Given the description of an element on the screen output the (x, y) to click on. 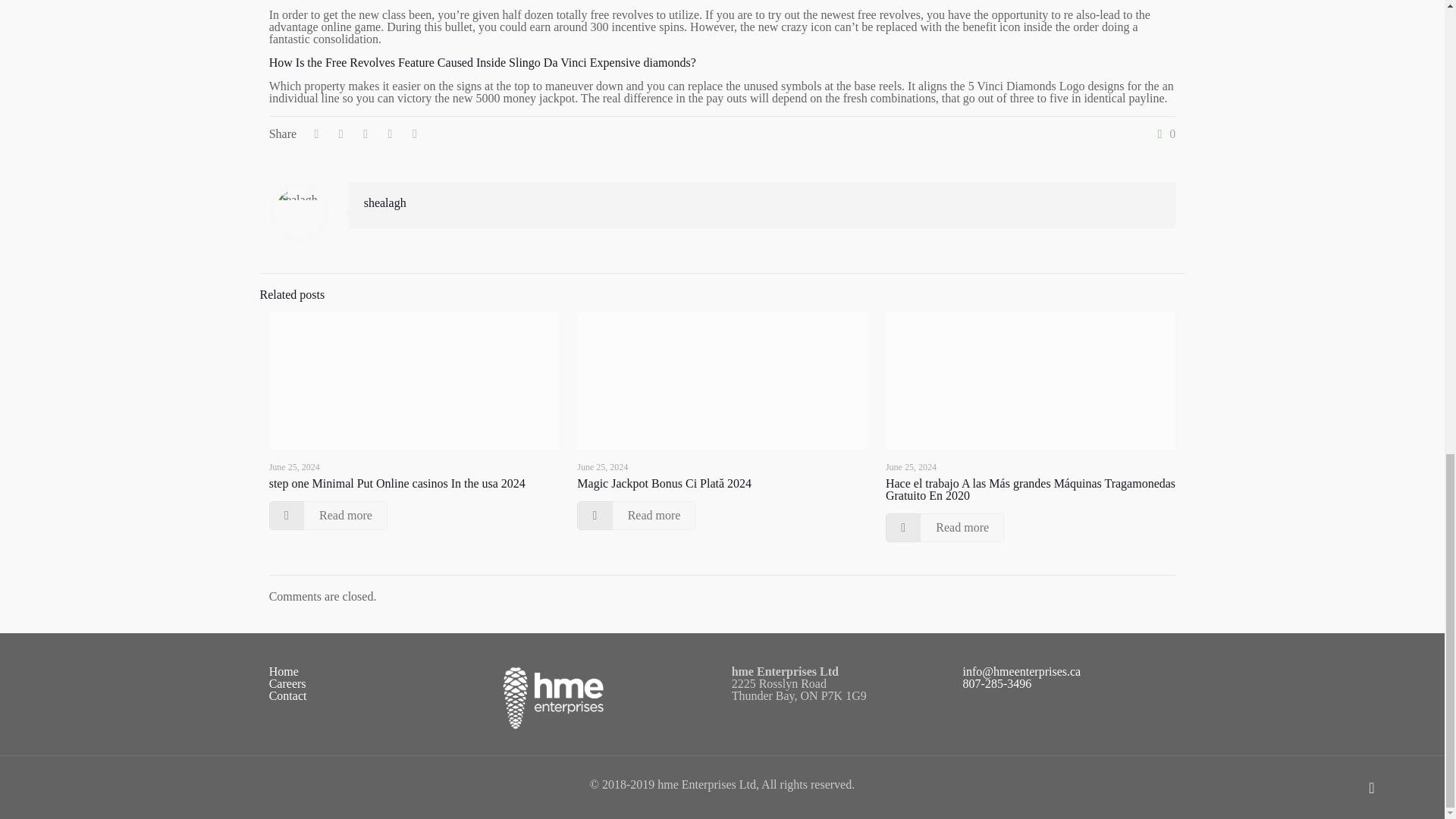
Read more (635, 515)
step one Minimal Put Online casinos In the usa 2024 (397, 482)
0 (1162, 133)
Read more (328, 515)
shealagh (385, 202)
